Given the description of an element on the screen output the (x, y) to click on. 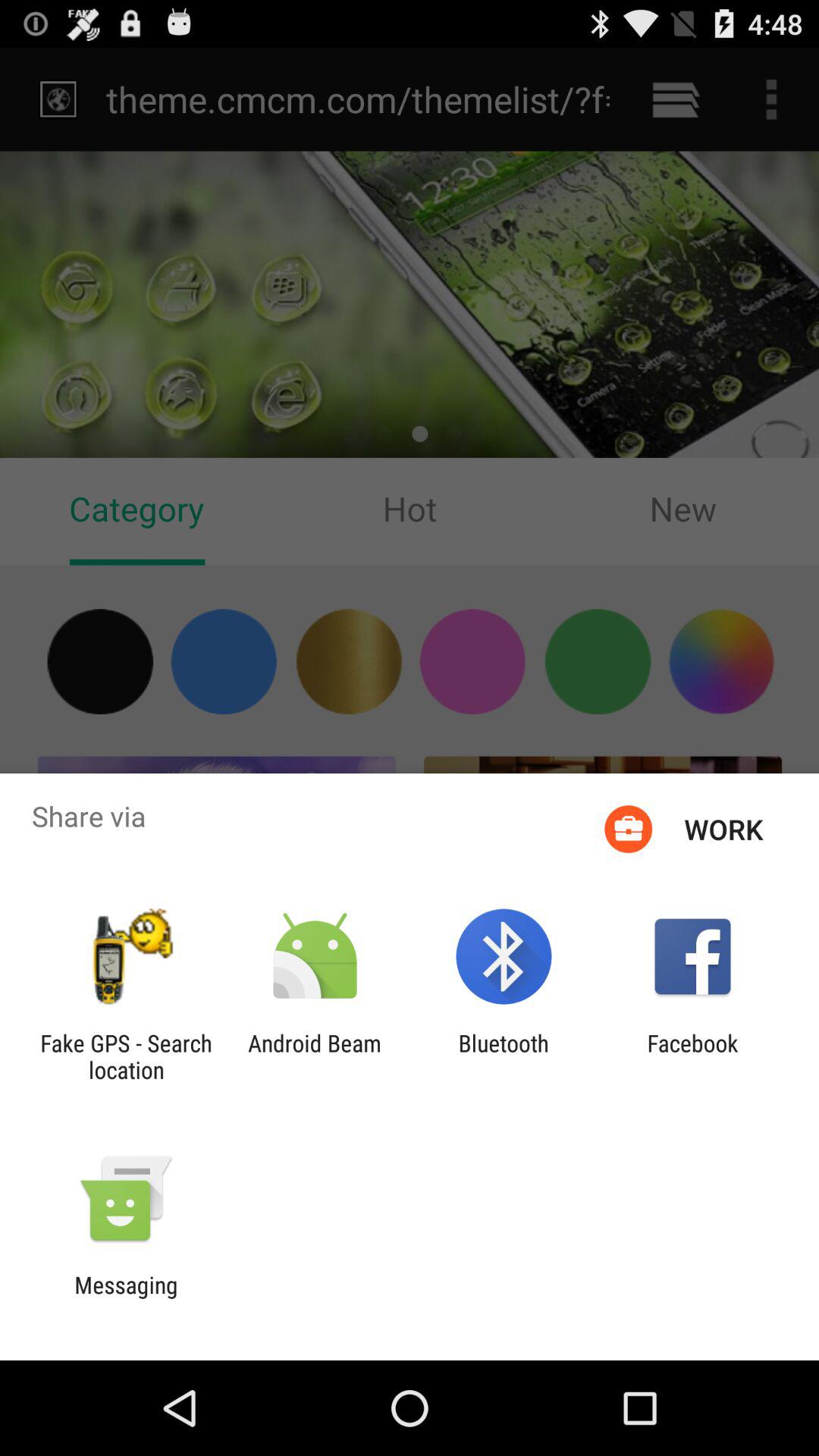
select item to the left of android beam item (125, 1056)
